Given the description of an element on the screen output the (x, y) to click on. 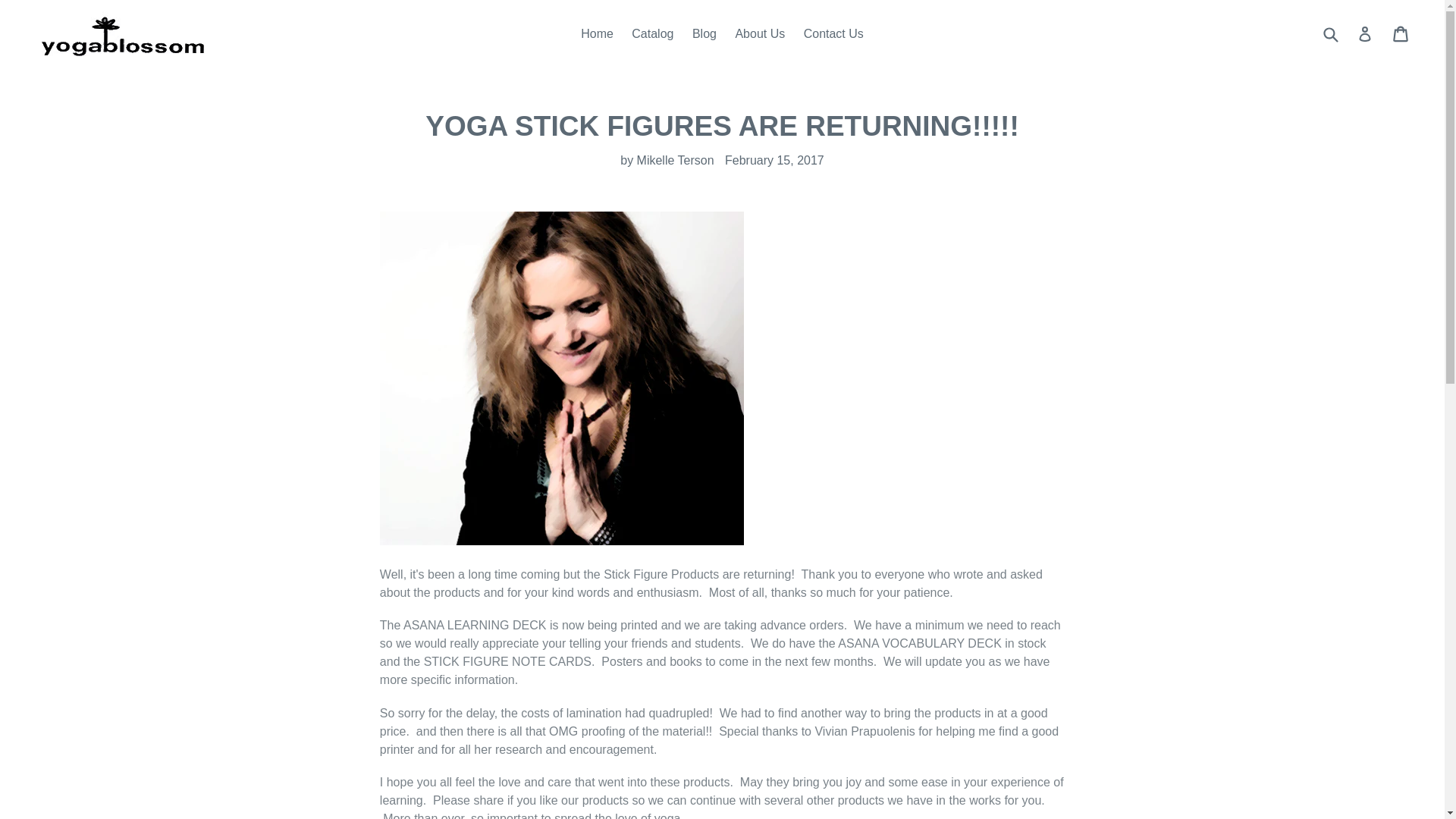
Home (597, 33)
About Us (759, 33)
Contact Us (833, 33)
Catalog (652, 33)
Blog (703, 33)
